Given the description of an element on the screen output the (x, y) to click on. 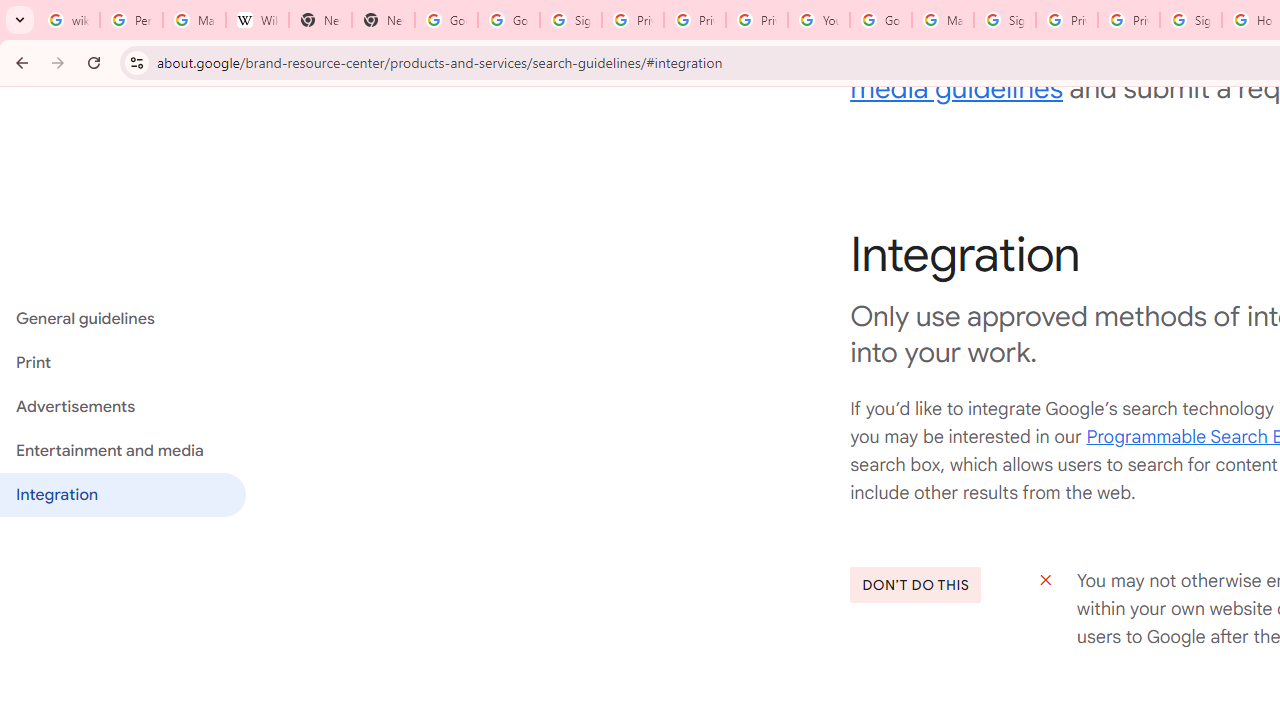
New Tab (383, 20)
